Given the description of an element on the screen output the (x, y) to click on. 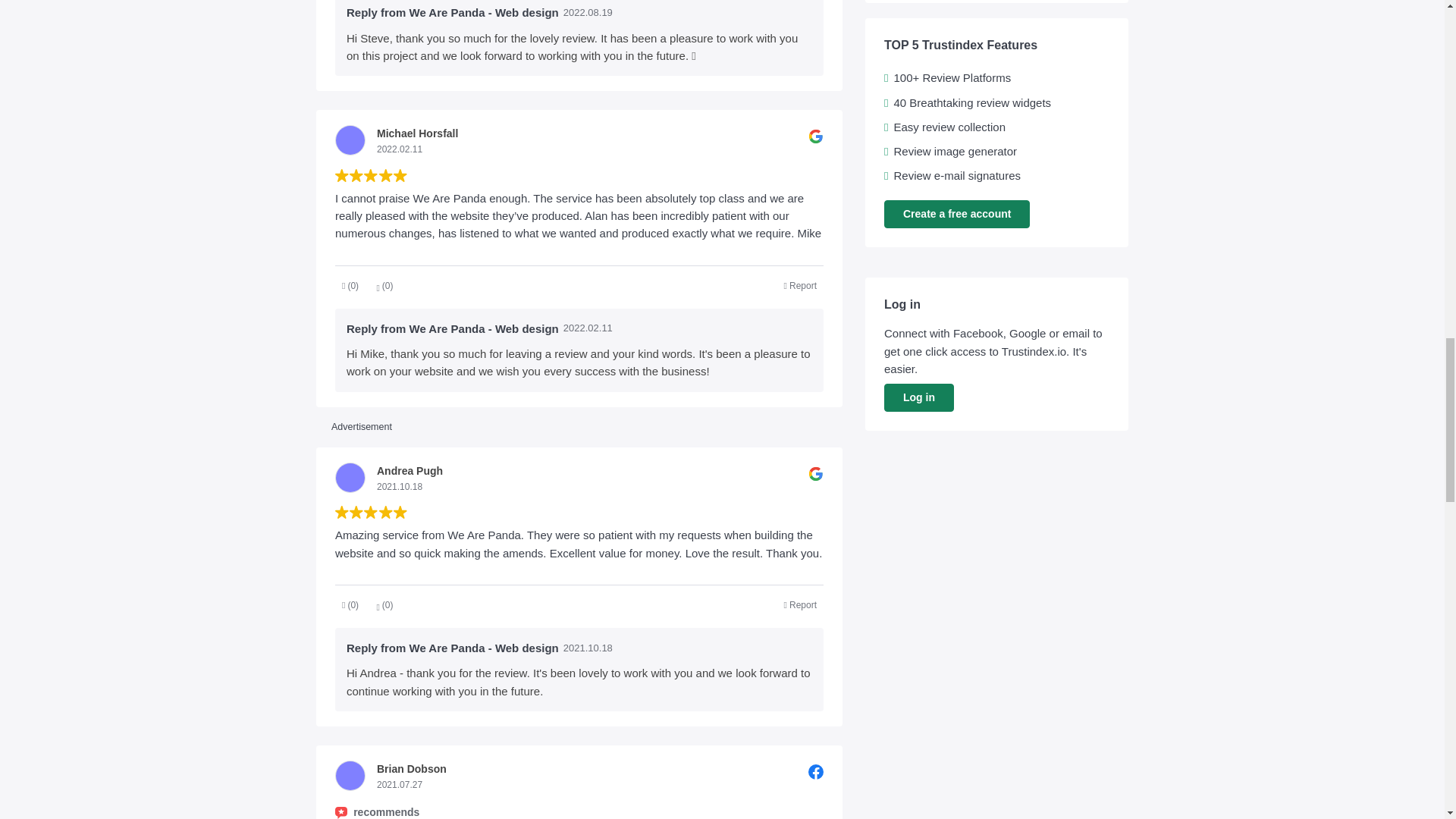
Report (800, 605)
Report (800, 285)
